Given the description of an element on the screen output the (x, y) to click on. 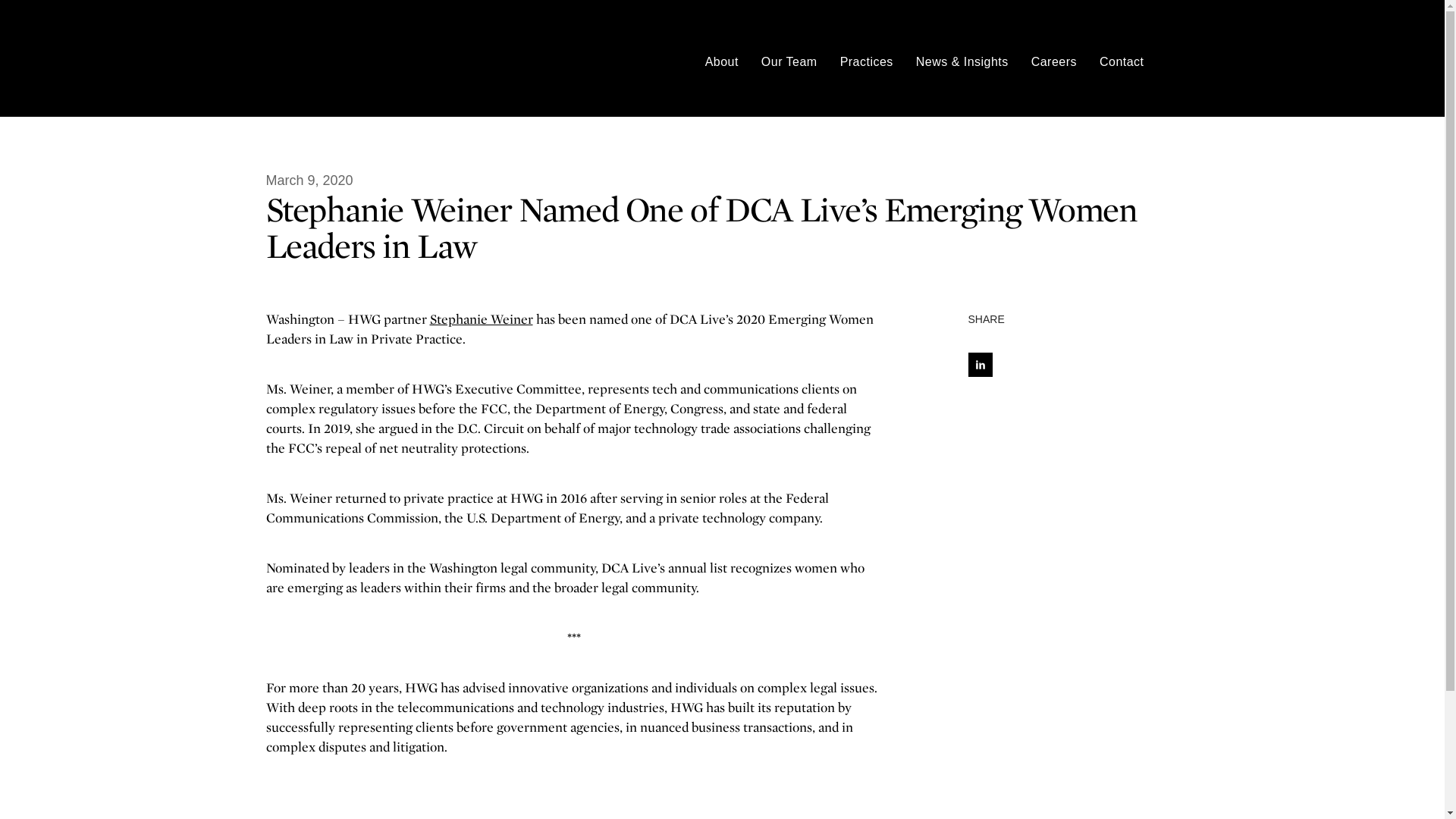
Practices (866, 62)
Our Team (788, 62)
Stephanie Weiner (480, 318)
About (721, 62)
Search (1171, 61)
Contact (1121, 62)
Careers (1053, 62)
HWG LLP (301, 58)
